Given the description of an element on the screen output the (x, y) to click on. 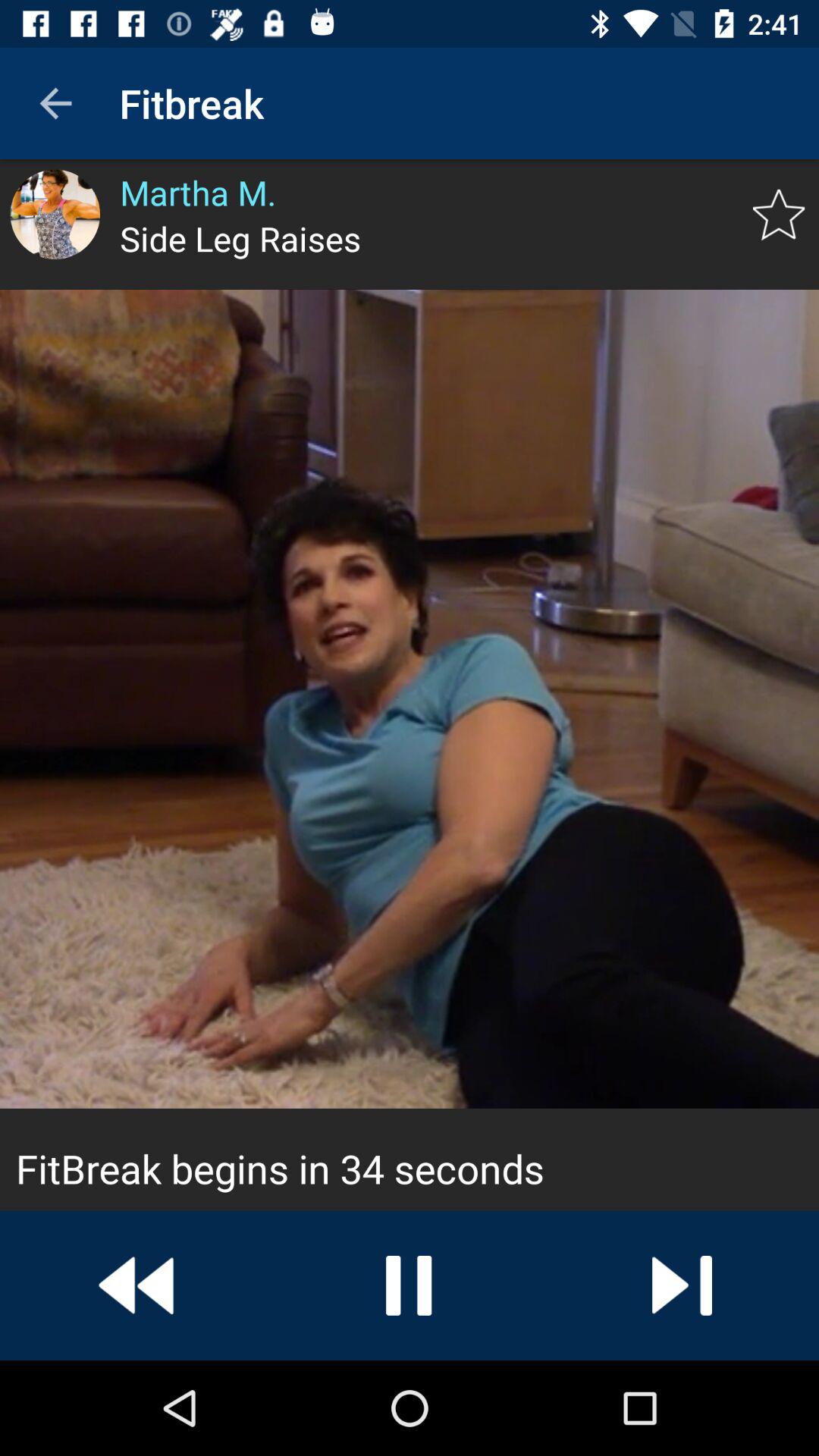
pause toggle (409, 1285)
